Given the description of an element on the screen output the (x, y) to click on. 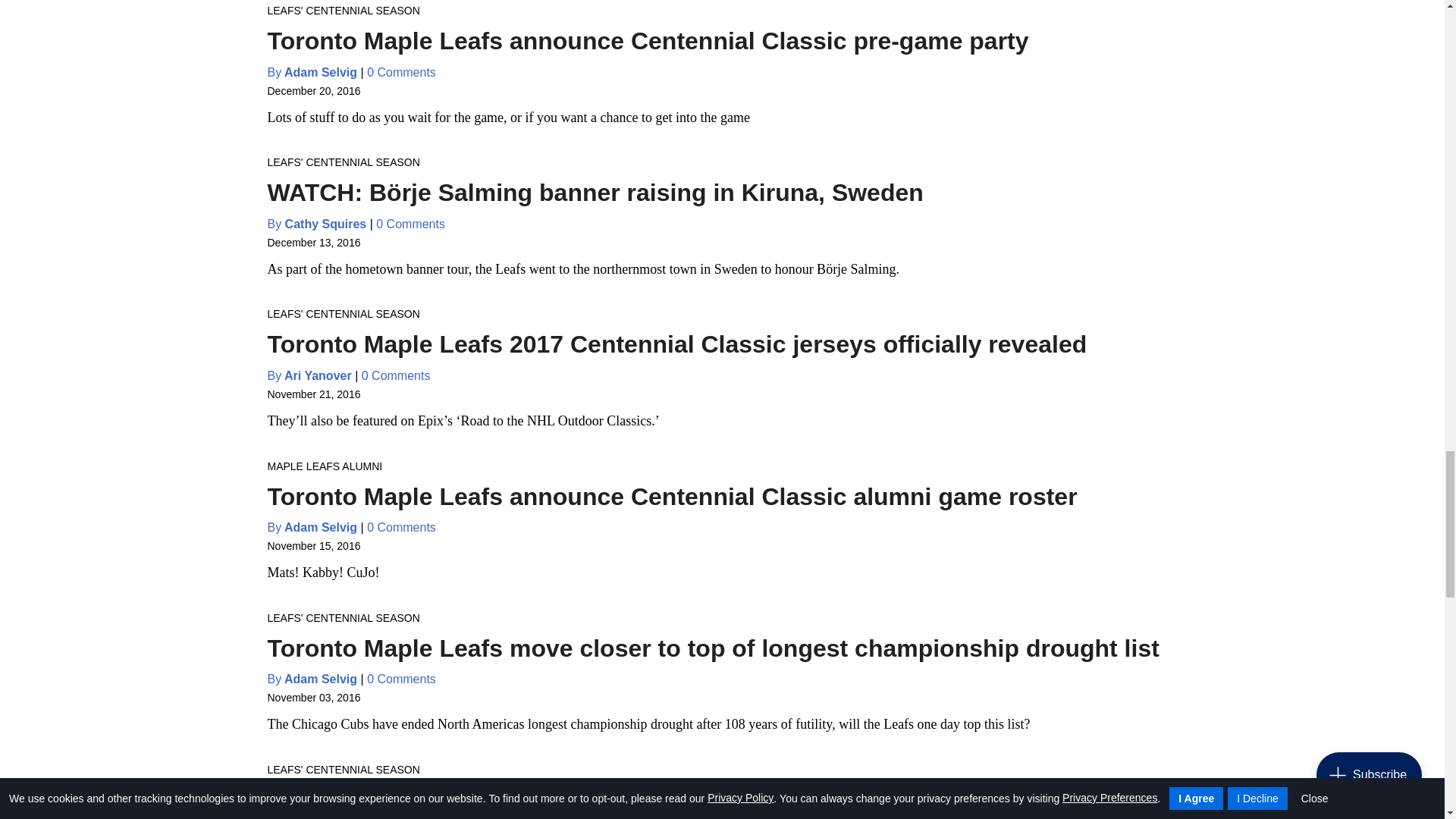
21 November, 2016 (312, 394)
13 December, 2016 (312, 242)
20 December, 2016 (312, 91)
15 November, 2016 (312, 545)
03 November, 2016 (312, 697)
